Given the description of an element on the screen output the (x, y) to click on. 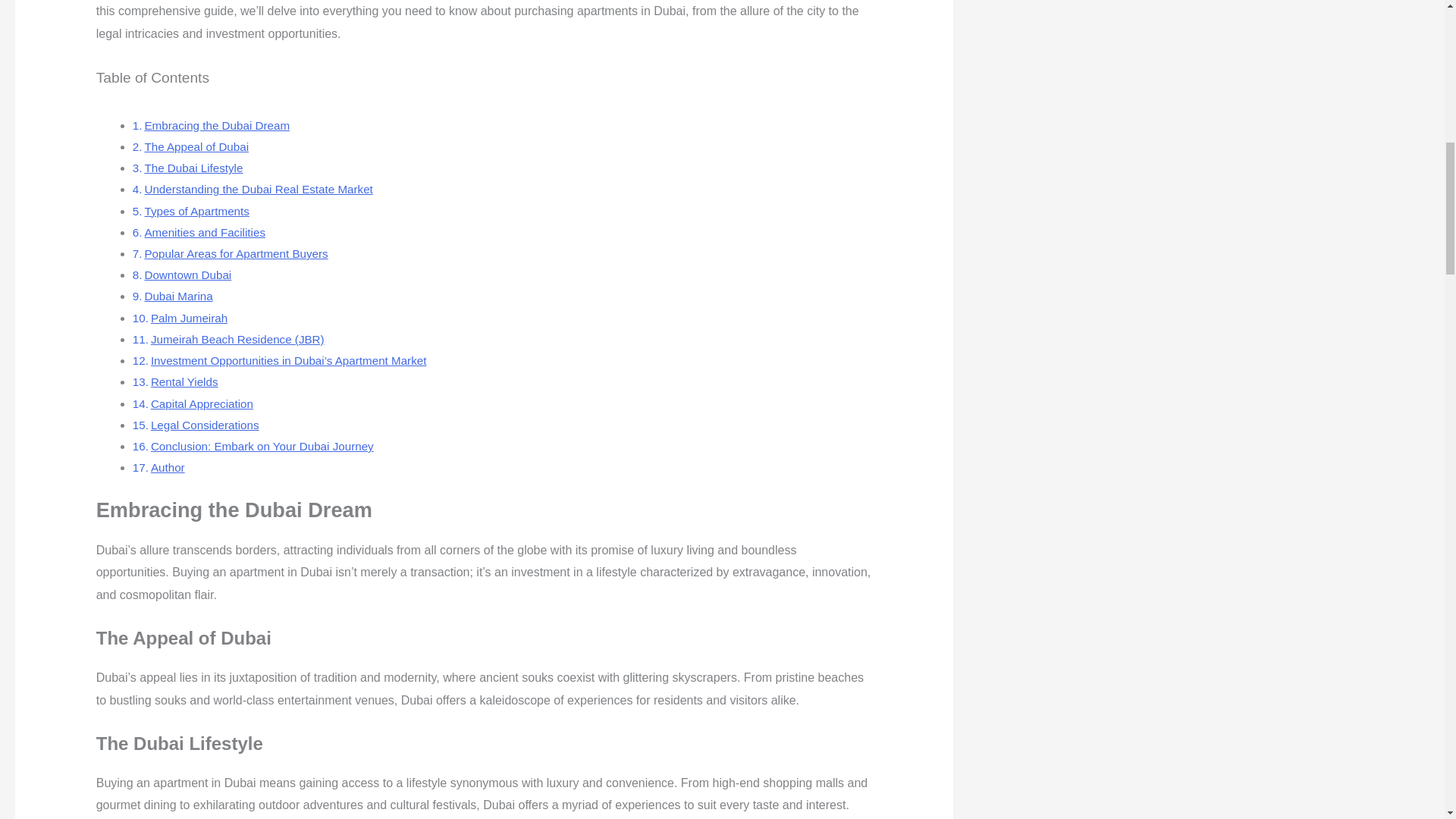
Embracing the Dubai Dream (216, 124)
Understanding the Dubai Real Estate Market (258, 188)
The Appeal of Dubai (196, 146)
Palm Jumeirah (189, 318)
Dubai Marina (178, 295)
Downtown Dubai (187, 274)
Types of Apartments (196, 210)
The Dubai Lifestyle (193, 167)
Popular Areas for Apartment Buyers (235, 253)
Amenities and Facilities (204, 232)
